Given the description of an element on the screen output the (x, y) to click on. 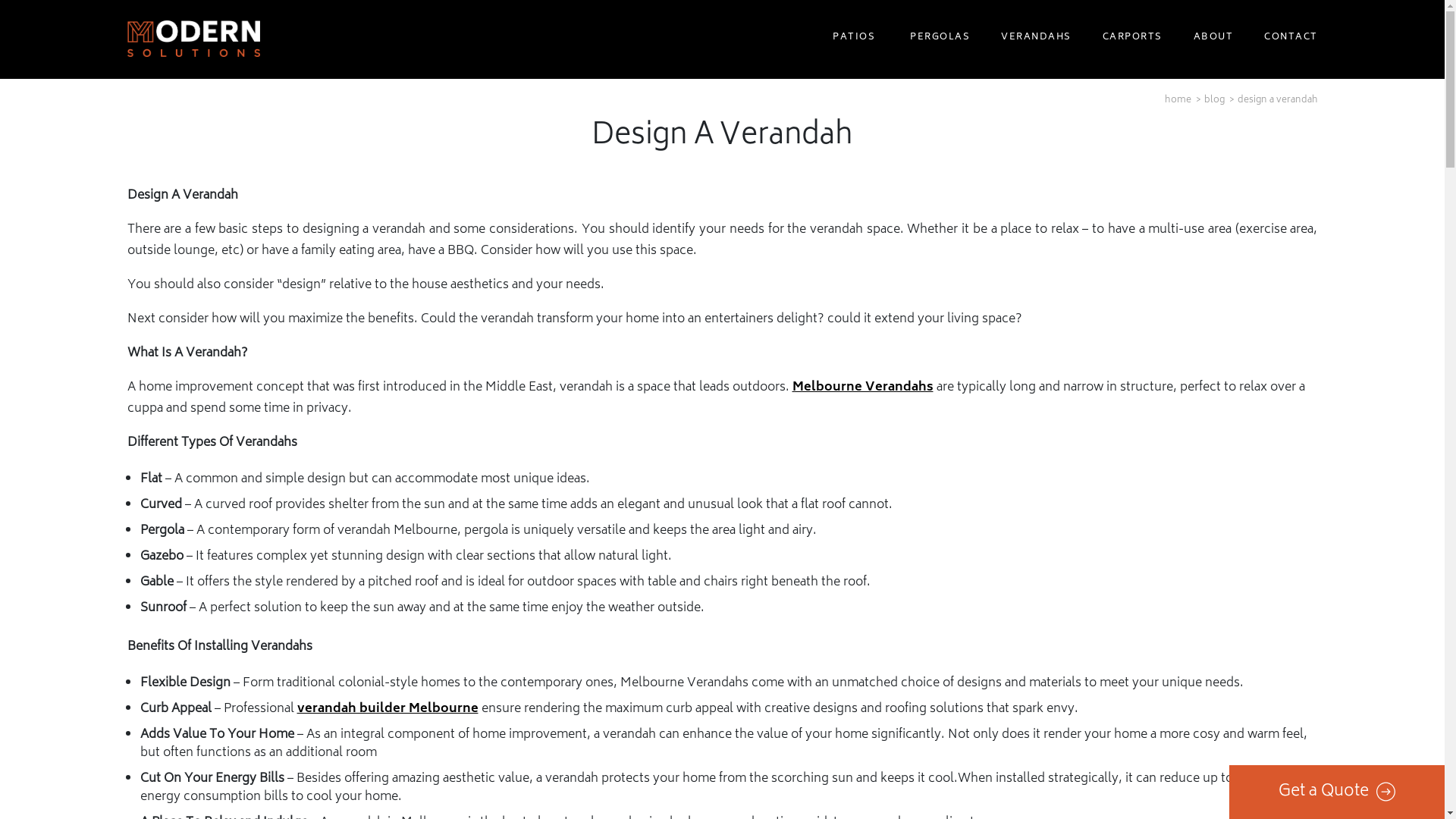
CONTACT Element type: text (1288, 38)
verandah builder Melbourne Element type: text (387, 708)
Modern Solutions Element type: hover (193, 38)
blog Element type: text (1214, 100)
ABOUT Element type: text (1211, 38)
home Element type: text (1177, 100)
PERGOLAS Element type: text (937, 38)
PATIOS Element type: text (853, 38)
Melbourne Verandahs Element type: text (861, 387)
VERANDAHS Element type: text (1034, 38)
CARPORTS Element type: text (1129, 38)
